Given the description of an element on the screen output the (x, y) to click on. 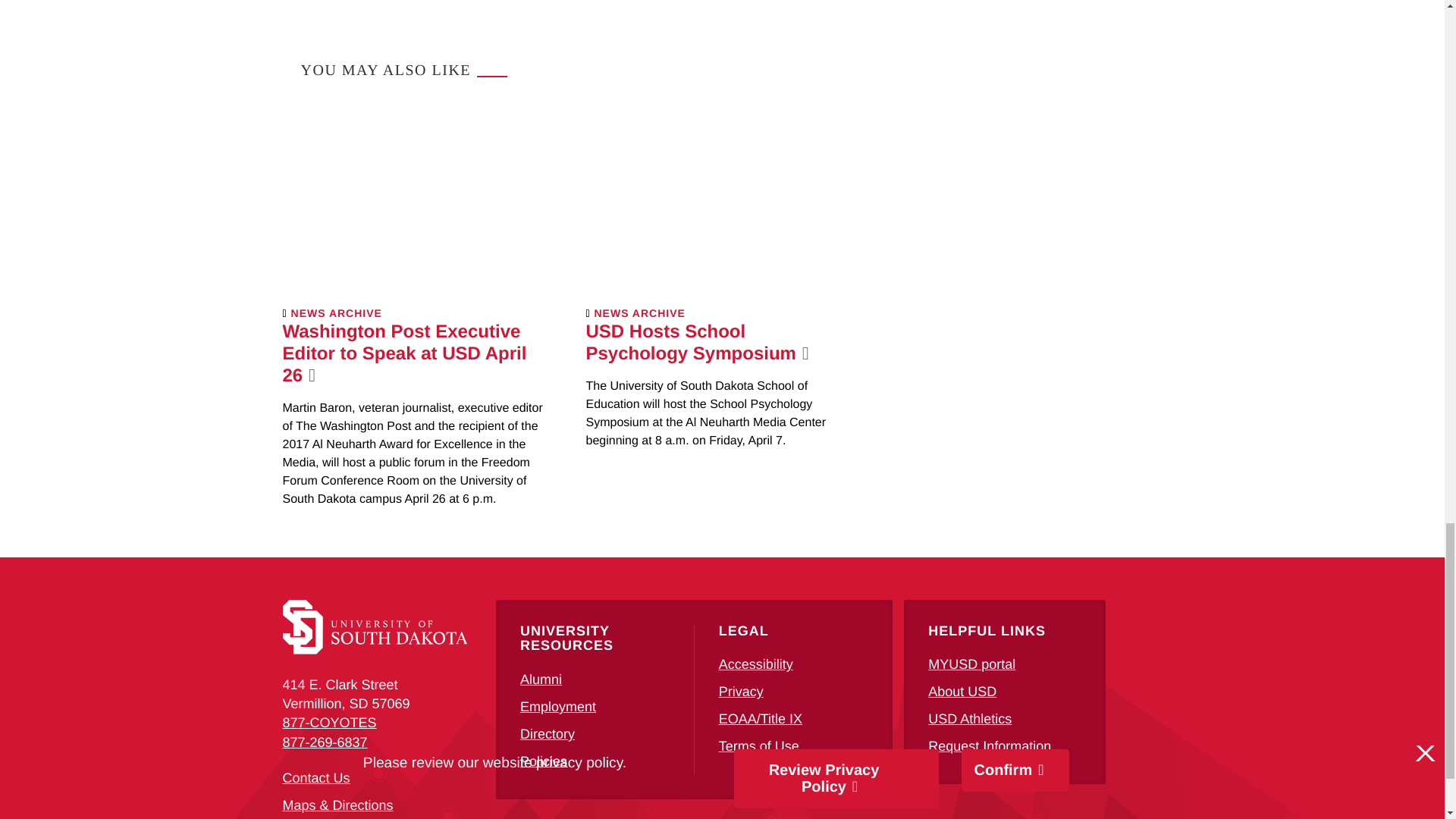
Faculty and Staff Directory (547, 734)
Privacy (740, 691)
Accessibility (756, 663)
About USD (961, 691)
Employment (557, 706)
USD Terms of Use (759, 745)
Request Information (989, 745)
MYUSD portal (971, 663)
USD Alumni (540, 679)
USD Athletics site (969, 718)
